Given the description of an element on the screen output the (x, y) to click on. 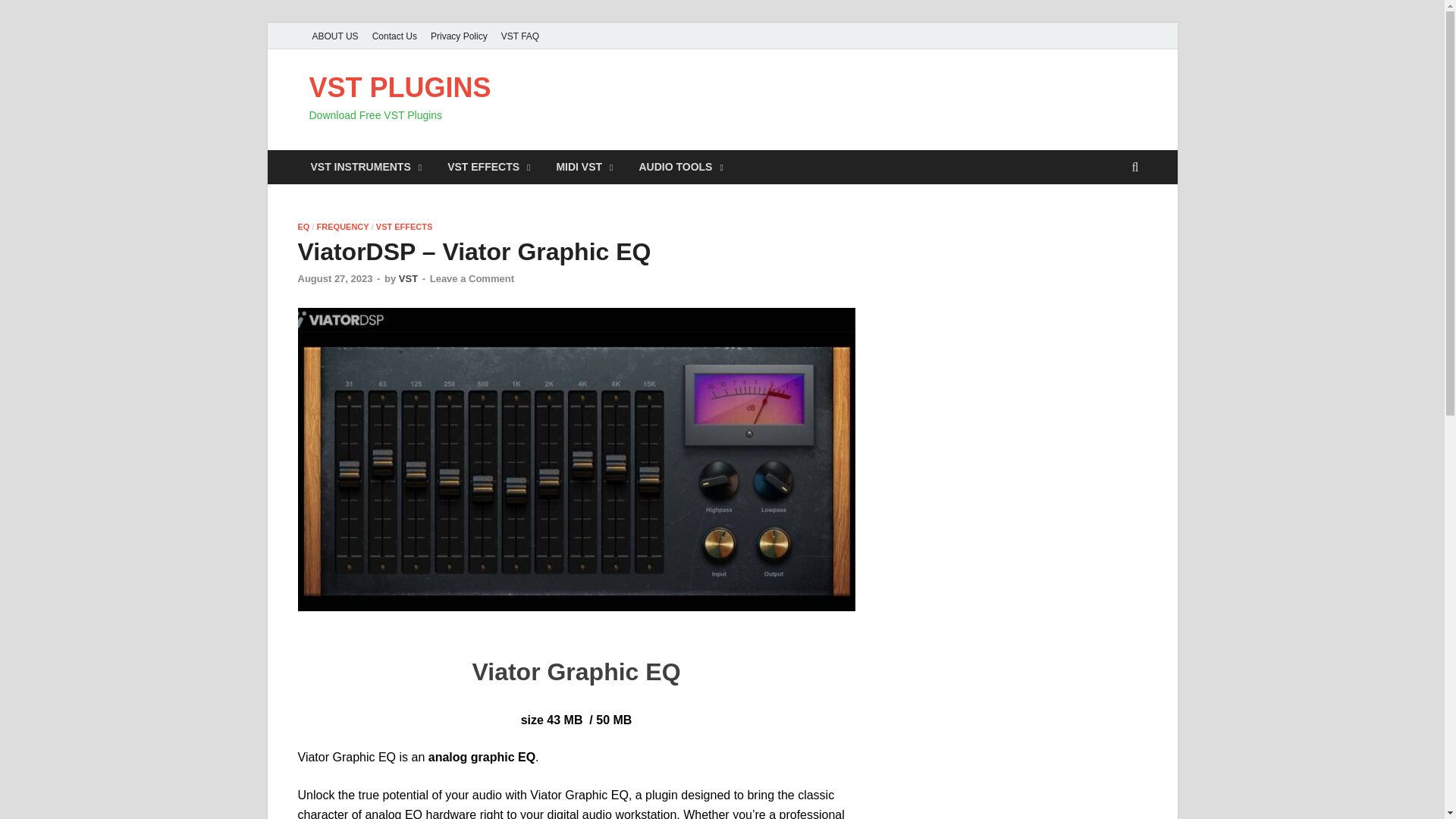
ABOUT US (334, 35)
VST INSTRUMENTS (365, 166)
VST PLUGINS (400, 87)
Contact Us (394, 35)
VST FAQ (520, 35)
Privacy Policy (459, 35)
